Given the description of an element on the screen output the (x, y) to click on. 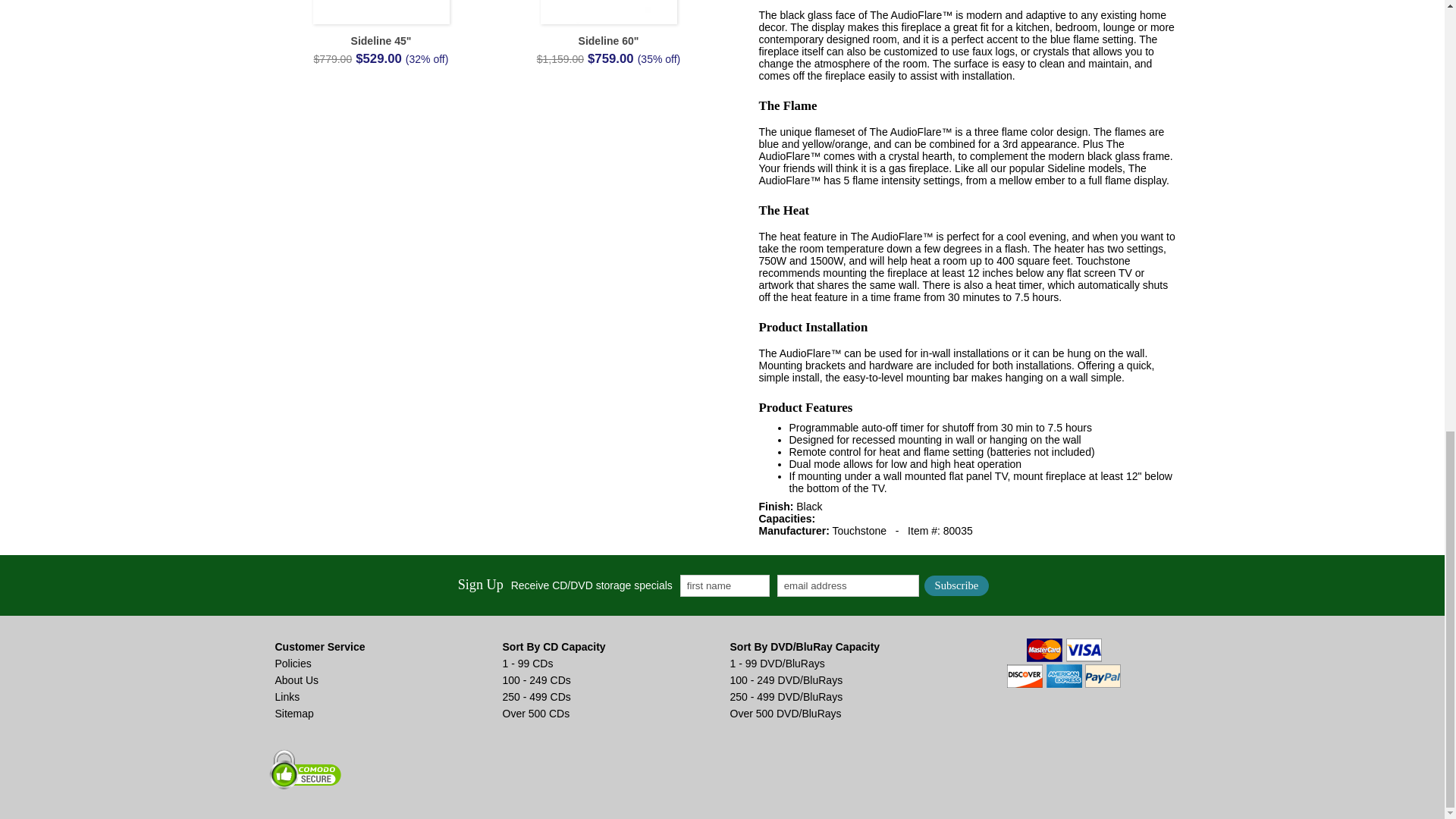
email address (847, 585)
first name (724, 585)
Subscribe (957, 585)
